Given the description of an element on the screen output the (x, y) to click on. 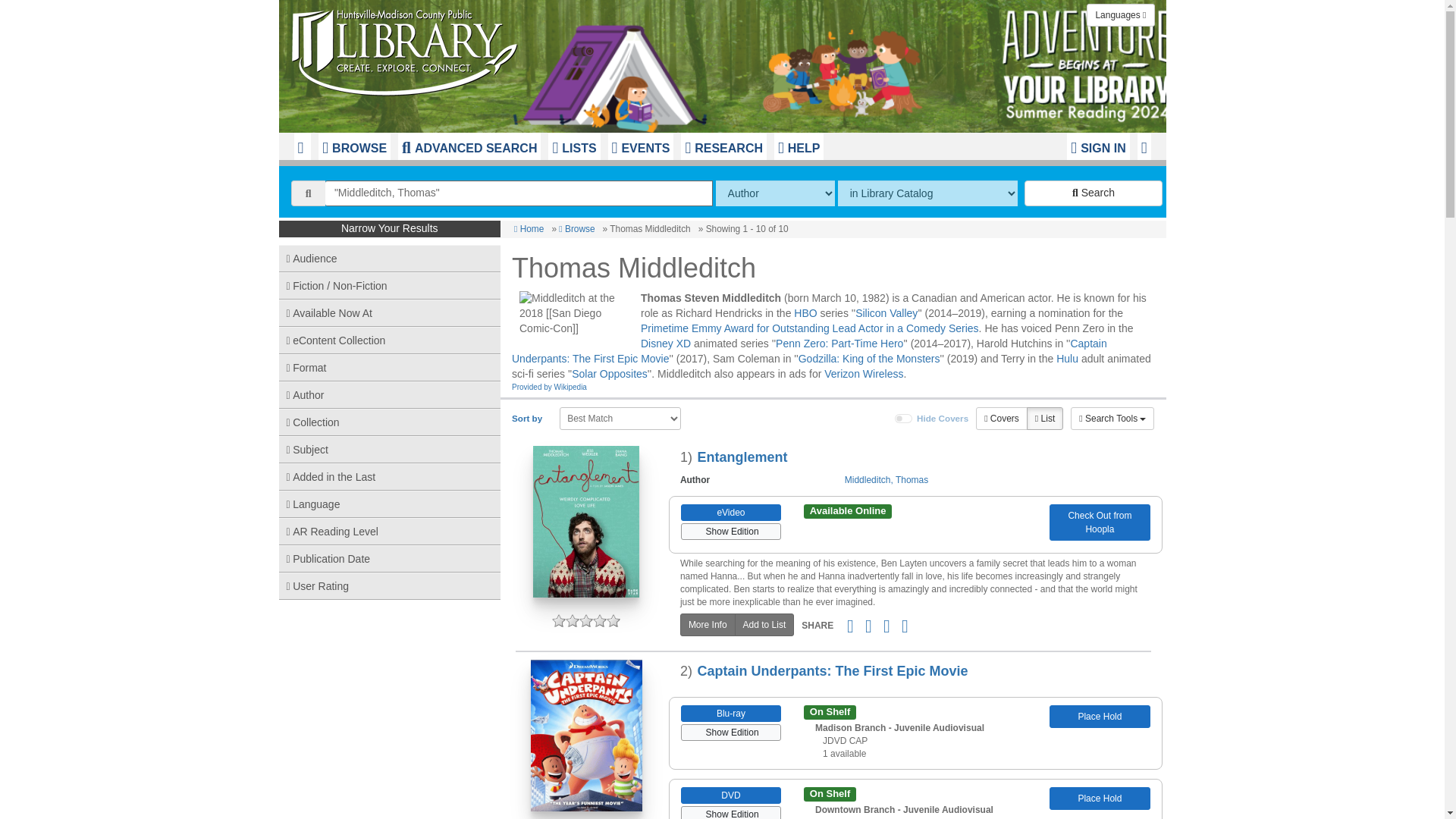
RESEARCH (724, 145)
SIGN IN (1098, 145)
on (903, 418)
Languages  (1120, 15)
Browse the Catalog (354, 145)
Login (1098, 145)
LISTS (573, 145)
ADVANCED SEARCH (468, 145)
 Search (1093, 193)
